Given the description of an element on the screen output the (x, y) to click on. 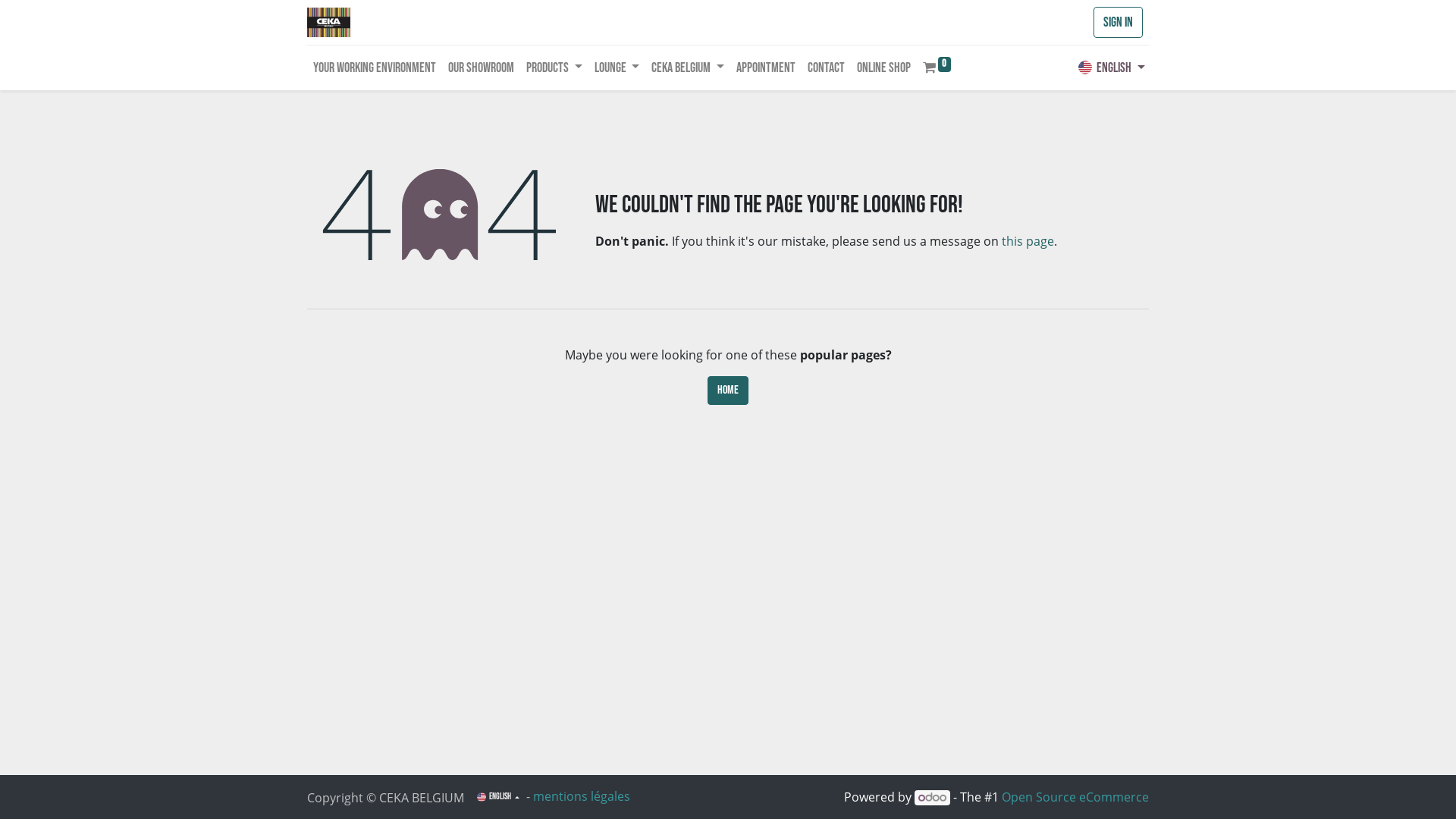
Open Source eCommerce Element type: text (1074, 796)
YOUR WORKING ENVIRONMENT Element type: text (374, 67)
Online shop Element type: text (883, 67)
English Element type: text (1111, 67)
Our showroom Element type: text (481, 67)
English Element type: text (498, 797)
0 Element type: text (936, 67)
LOUNGE Element type: text (617, 67)
Home Element type: text (727, 390)
CEKA Belgium Element type: hover (328, 22)
CONTACT Element type: text (825, 67)
CEKA BELGIUM Element type: text (687, 67)
Sign in Element type: text (1117, 21)
PRODUCTS Element type: text (554, 67)
Appointment Element type: text (765, 67)
this page Element type: text (1027, 240)
